Given the description of an element on the screen output the (x, y) to click on. 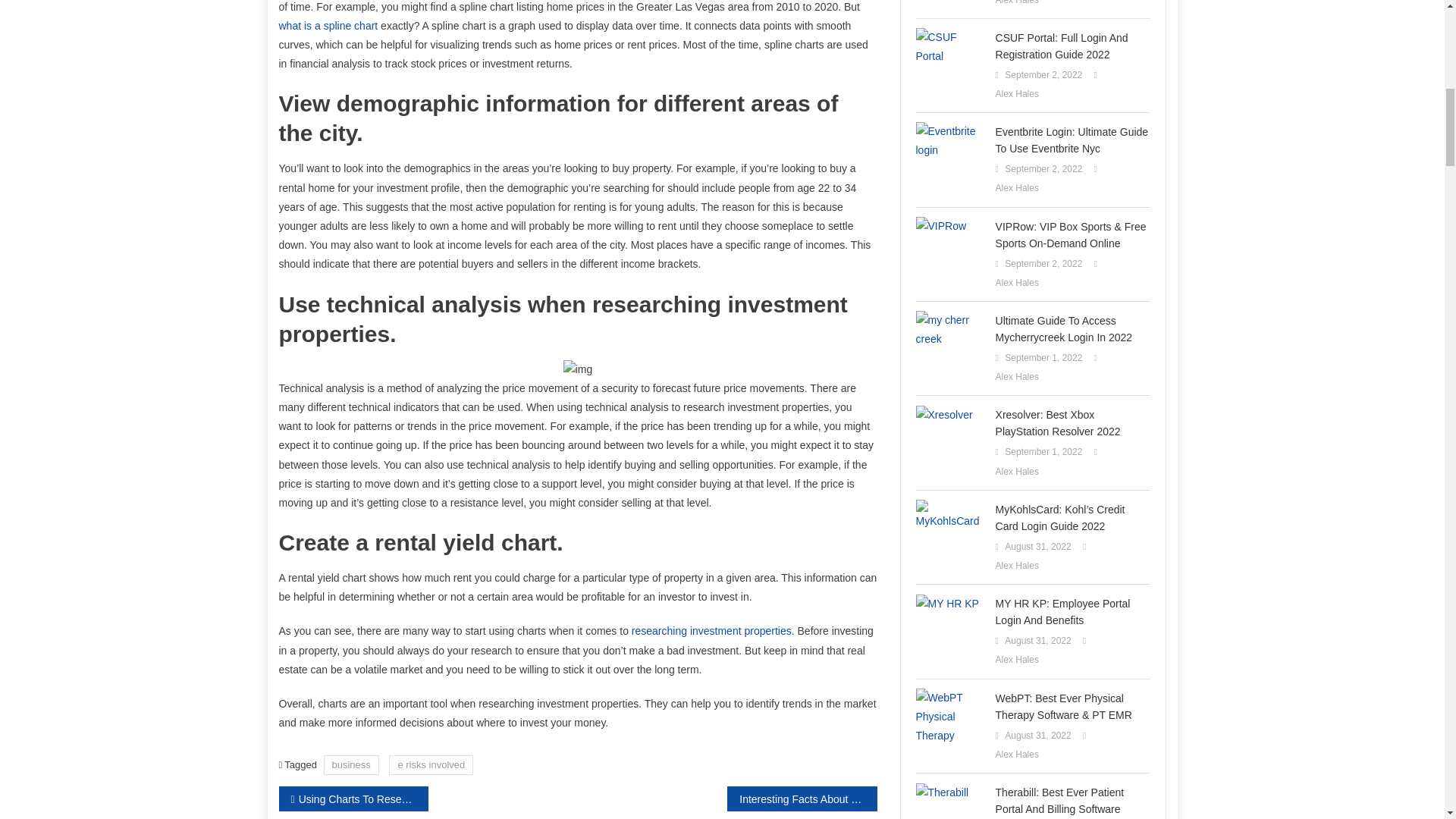
e risks involved (430, 764)
business (350, 764)
Using Charts To Research Investment Properties (353, 798)
researching investment properties (711, 630)
what is a spline chart (328, 25)
